Given the description of an element on the screen output the (x, y) to click on. 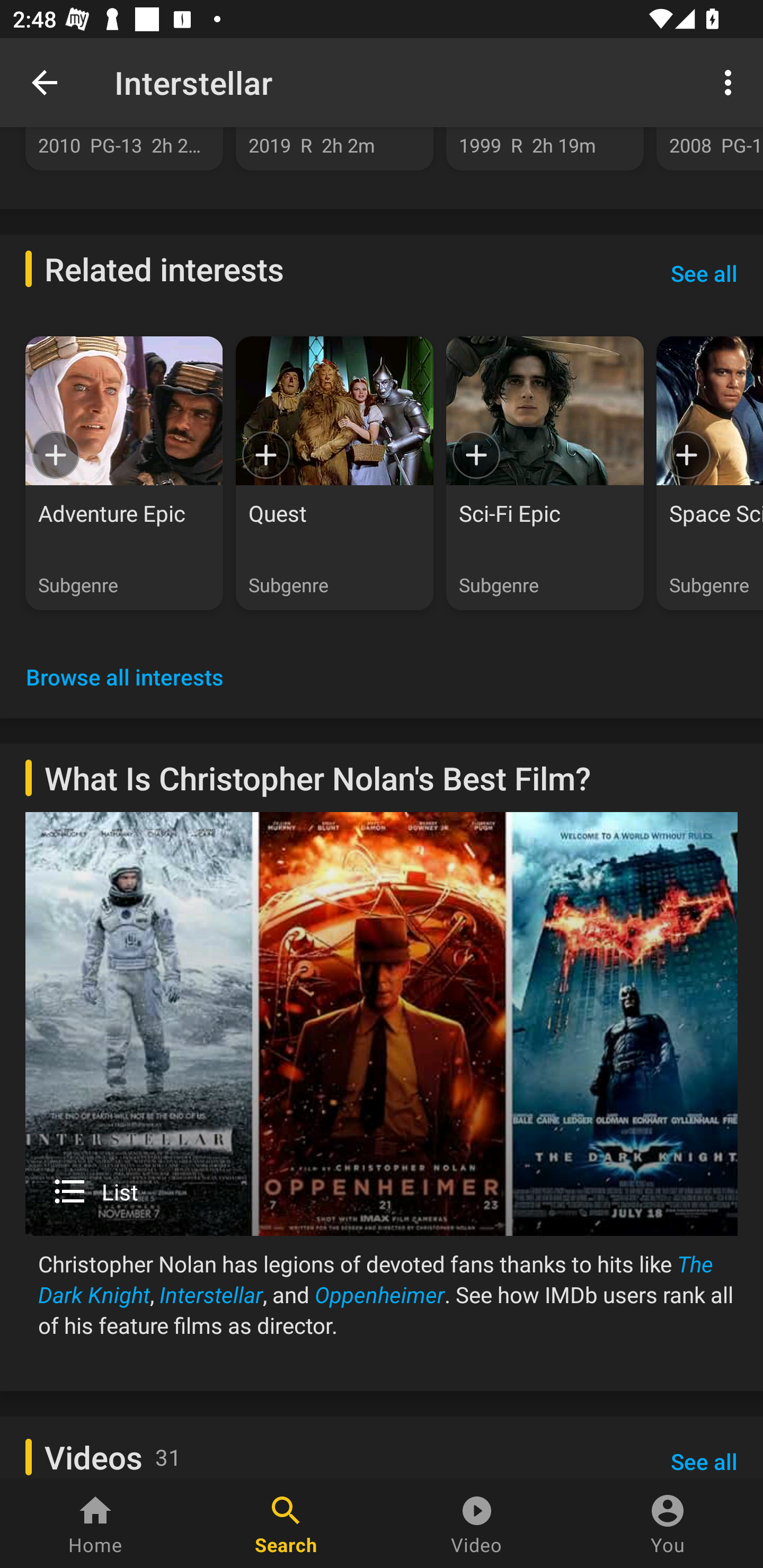
More options (731, 81)
Inception 2010  PG-13  2h 28m (123, 148)
Joker 2019  R  2h 2m (334, 148)
Fight Club 1999  R  2h 19m (544, 148)
The Dark Knight 2008  PG-13  2h 32m (709, 148)
See all See all Related interests (703, 273)
Adventure Epic Subgenre (123, 473)
Quest Subgenre (334, 473)
Sci-Fi Epic Subgenre (544, 473)
Space Sci-Fi Subgenre (709, 473)
Browse all interests (124, 677)
See all See all Videos (703, 1450)
Home (95, 1523)
Video (476, 1523)
You (667, 1523)
